Given the description of an element on the screen output the (x, y) to click on. 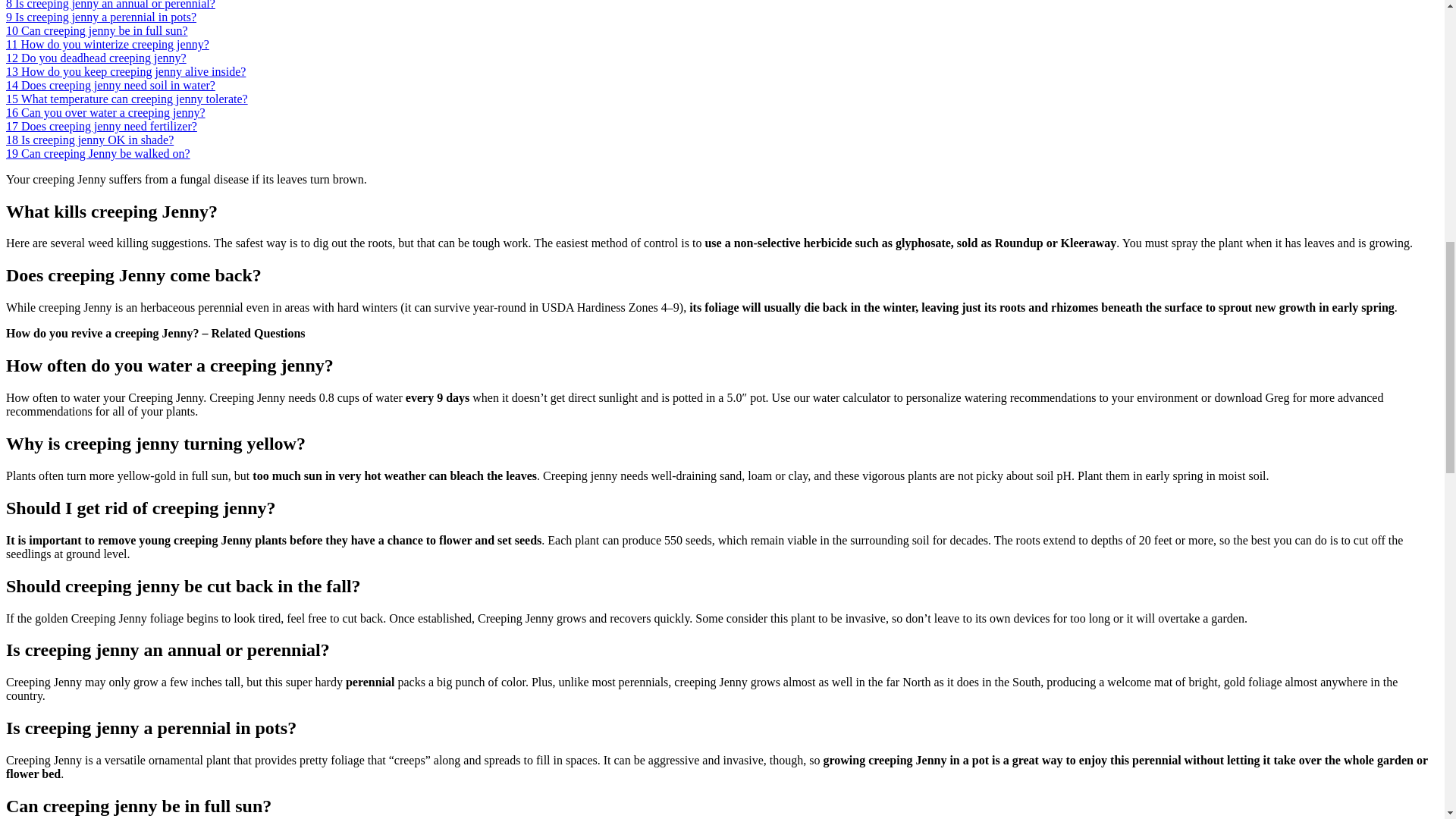
12 Do you deadhead creeping jenny? (95, 57)
9 Is creeping jenny a perennial in pots? (100, 16)
16 Can you over water a creeping jenny? (105, 112)
15 What temperature can creeping jenny tolerate? (126, 98)
8 Is creeping jenny an annual or perennial? (110, 4)
11 How do you winterize creeping jenny? (107, 43)
10 Can creeping jenny be in full sun? (96, 30)
13 How do you keep creeping jenny alive inside? (125, 71)
14 Does creeping jenny need soil in water? (110, 84)
